Given the description of an element on the screen output the (x, y) to click on. 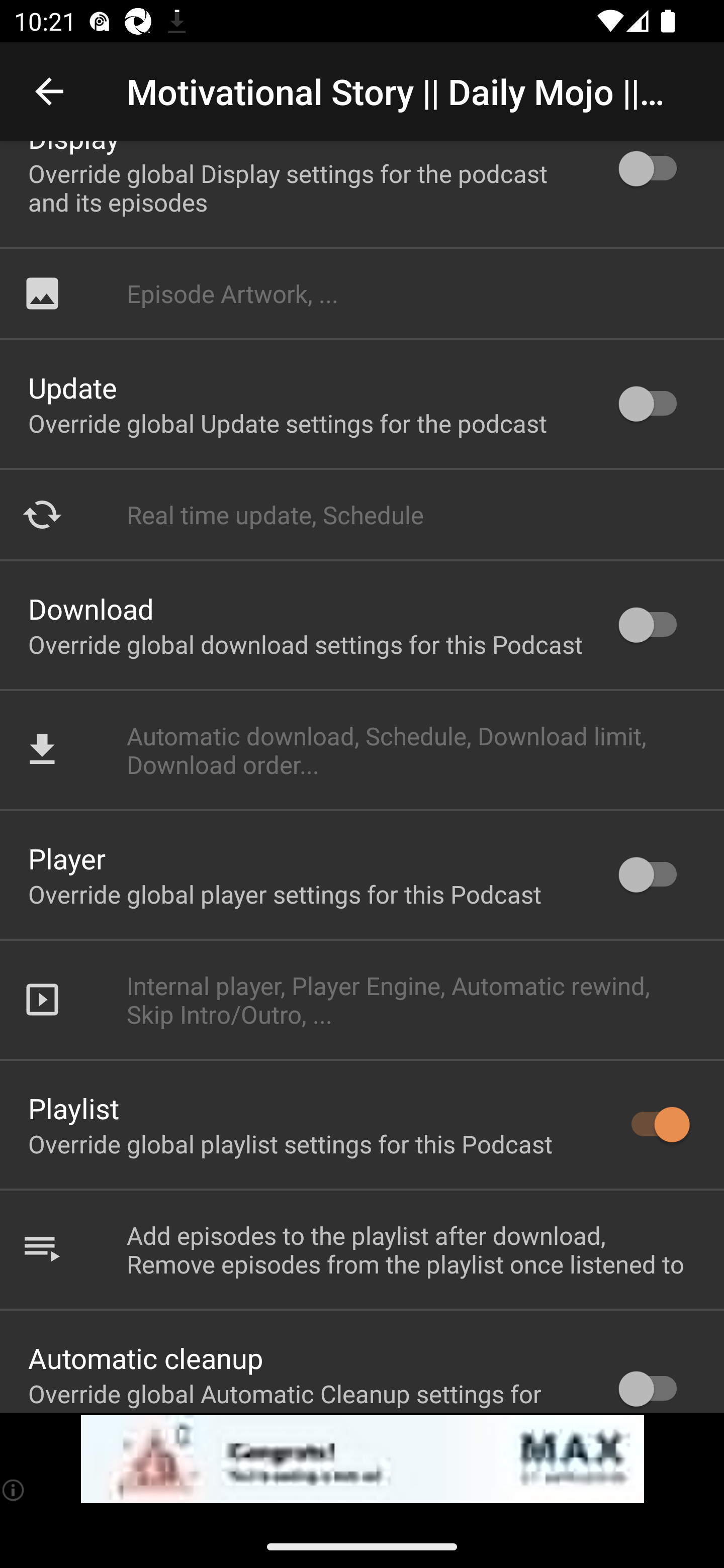
Navigate up (49, 91)
Episode Artwork, ... (362, 293)
Real time update, Schedule (362, 514)
app-monetization (362, 1459)
(i) (14, 1489)
